Given the description of an element on the screen output the (x, y) to click on. 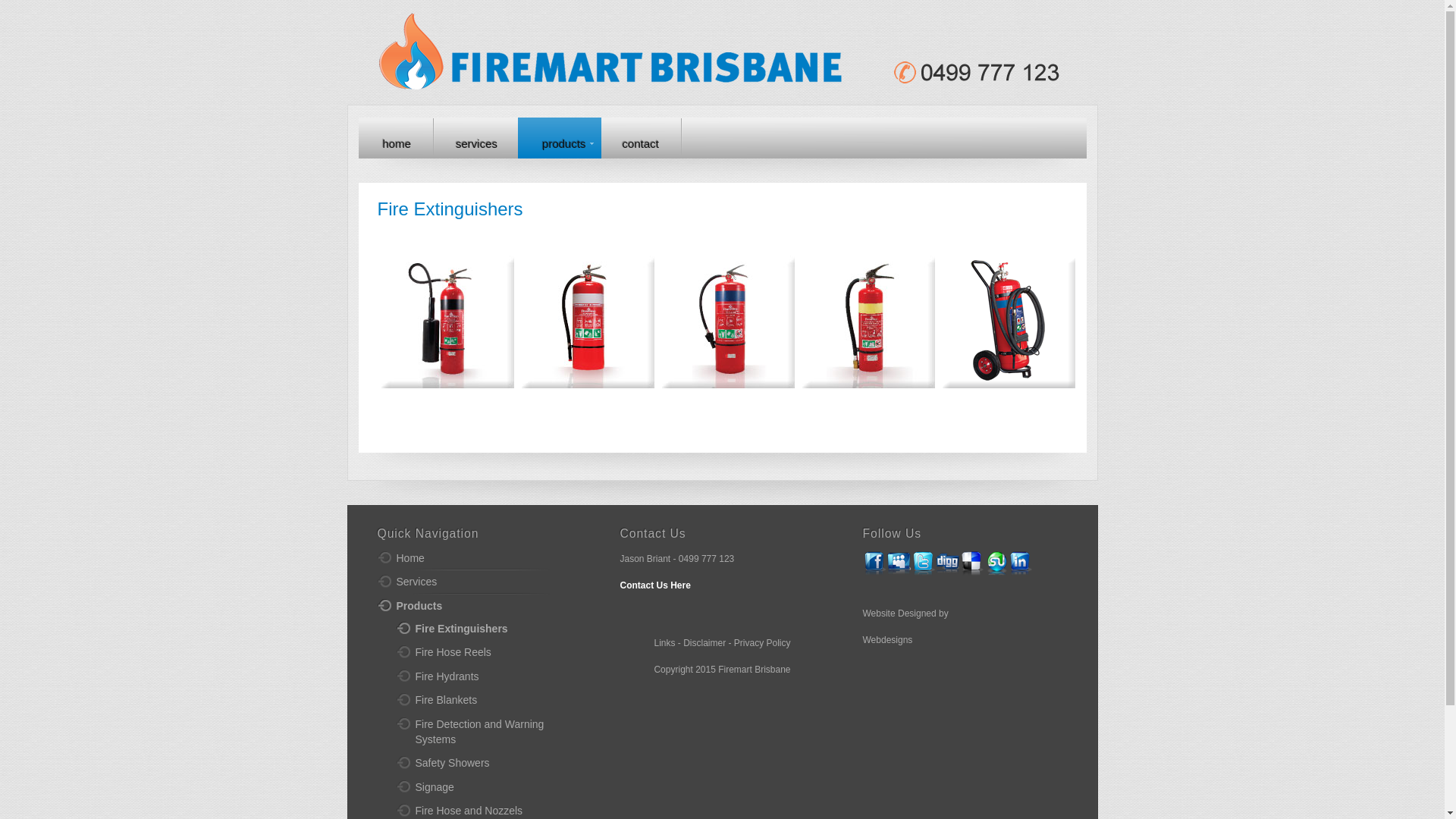
Fire Blankets Element type: text (488, 700)
contact Element type: text (640, 137)
Twitter Element type: hover (923, 563)
Privacy Policy Element type: text (762, 642)
Contact Us Here Element type: text (655, 585)
Fire Detection and Warning Systems Element type: text (488, 731)
home Element type: text (395, 137)
MySpace Element type: hover (899, 563)
Services Element type: text (479, 581)
Products Element type: text (479, 606)
Disclaimer Element type: text (704, 642)
Digg Element type: hover (947, 563)
Signage Element type: text (488, 787)
Fire Hydrants Element type: text (488, 676)
linkedin Element type: hover (1020, 563)
Fire Hose Reels Element type: text (488, 652)
Safety Showers Element type: text (488, 763)
Webdesigns Element type: text (887, 639)
Home Element type: text (479, 558)
Stumbleupon Element type: hover (996, 563)
Links Element type: text (663, 642)
Facebook Element type: hover (874, 563)
Delicious Element type: hover (972, 563)
services Element type: text (475, 137)
products Element type: text (559, 137)
Fire Extinguishers Element type: text (488, 629)
